Given the description of an element on the screen output the (x, y) to click on. 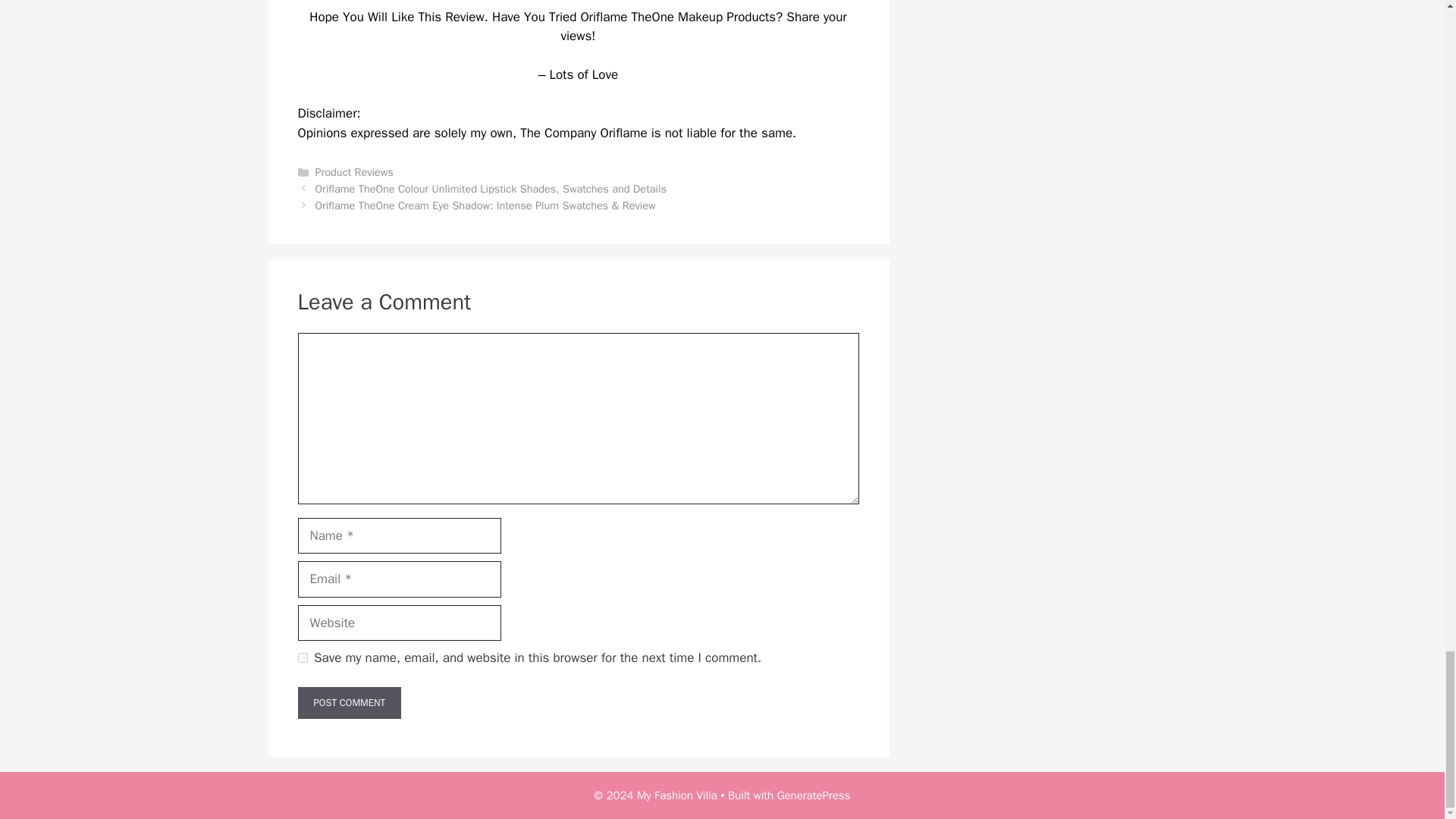
yes (302, 657)
Post Comment (349, 703)
Product Reviews (354, 172)
Post Comment (349, 703)
